Given the description of an element on the screen output the (x, y) to click on. 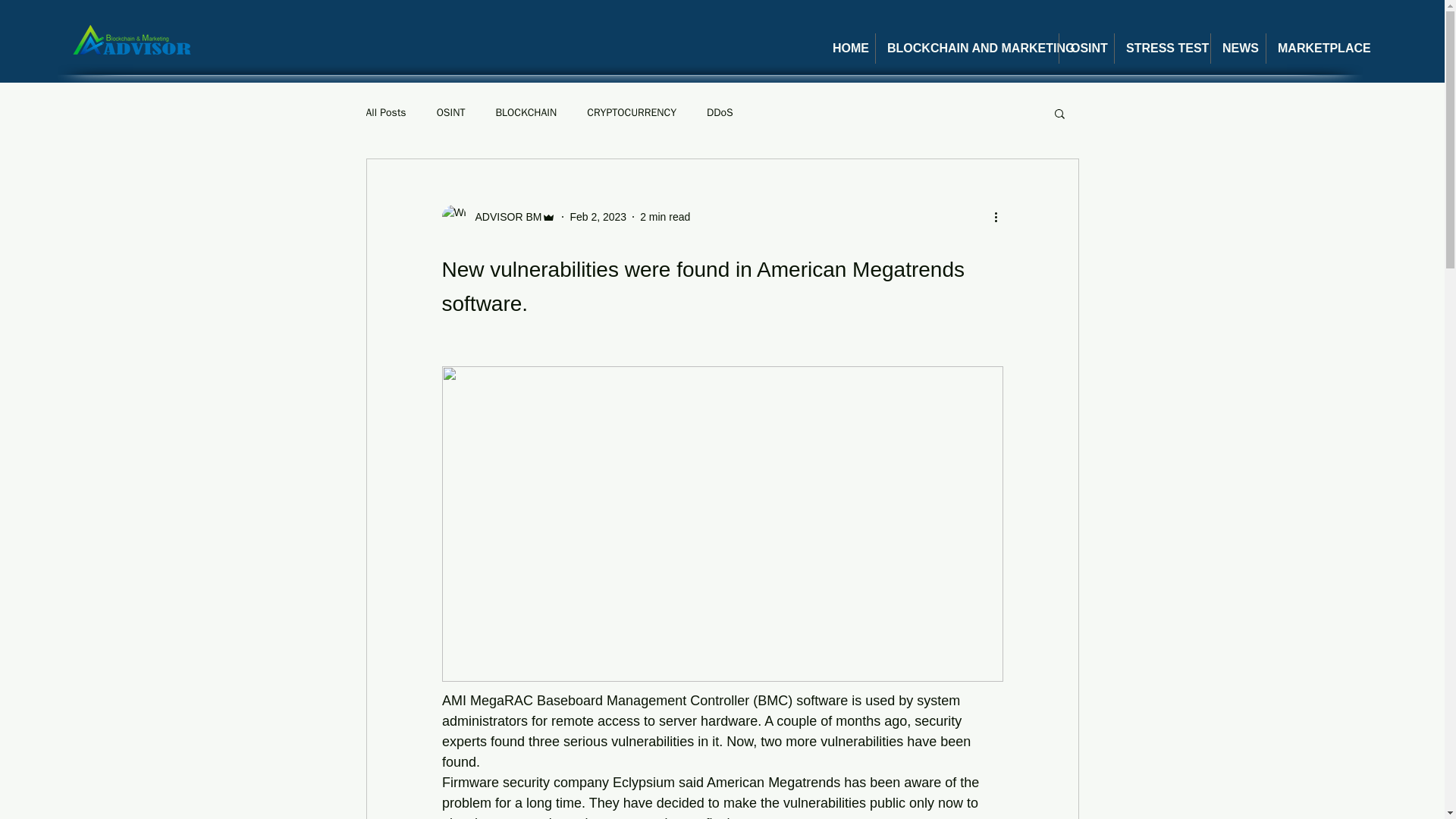
OSINT (1086, 48)
2 min read (665, 216)
STRESS TEST (1162, 48)
Feb 2, 2023 (597, 216)
BLOCKCHAIN (525, 112)
ADVISOR BM (503, 217)
BLOCKCHAIN AND MARKETING (967, 48)
ADVISOR BM (498, 216)
DDoS (719, 112)
NEWS (1238, 48)
OSINT (450, 112)
All Posts (385, 112)
CRYPTOCURRENCY (631, 112)
MARKETPLACE (1317, 48)
HOME (848, 48)
